Given the description of an element on the screen output the (x, y) to click on. 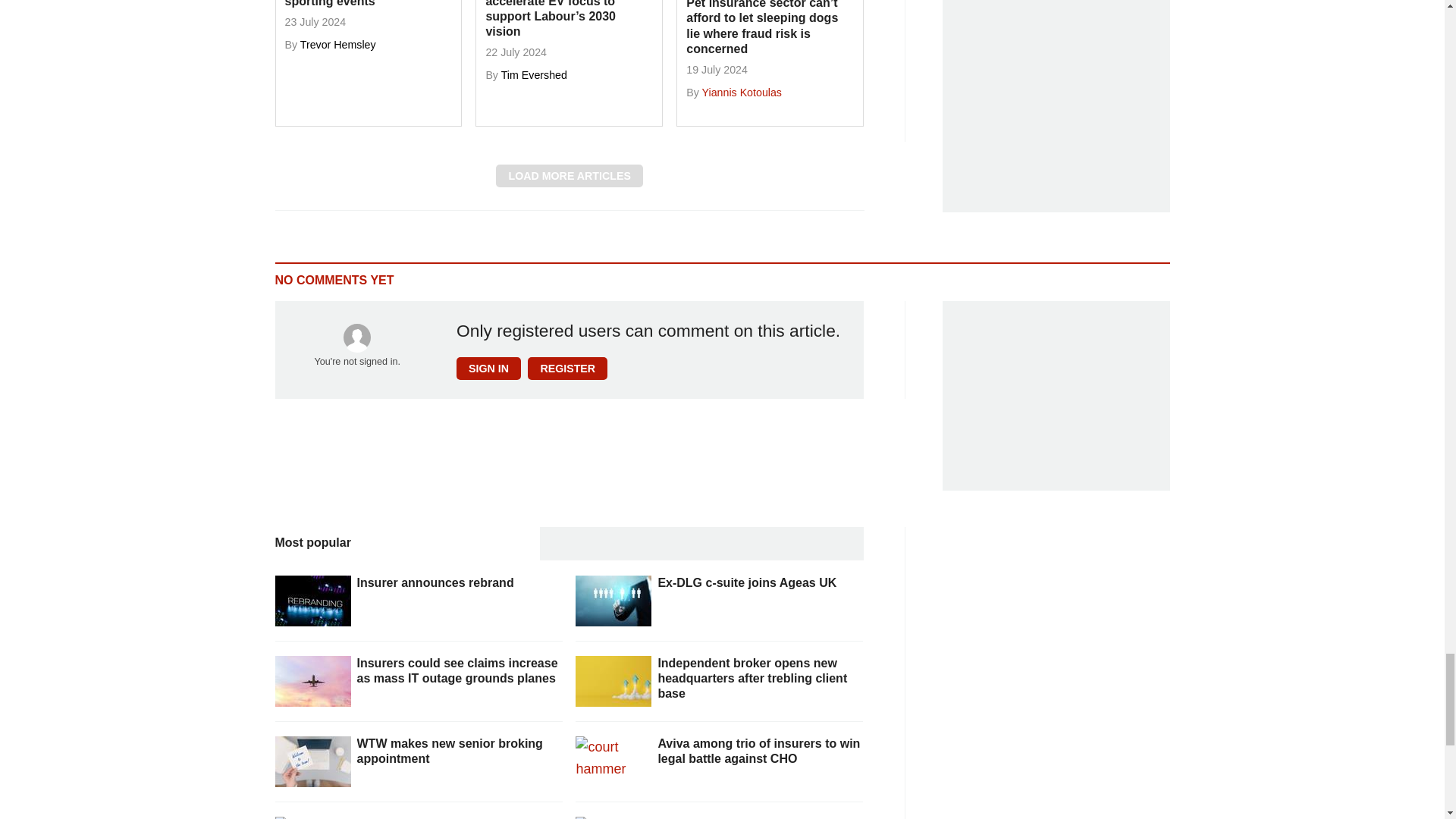
3rd party ad content (1055, 395)
3rd party ad content (1055, 106)
